Given the description of an element on the screen output the (x, y) to click on. 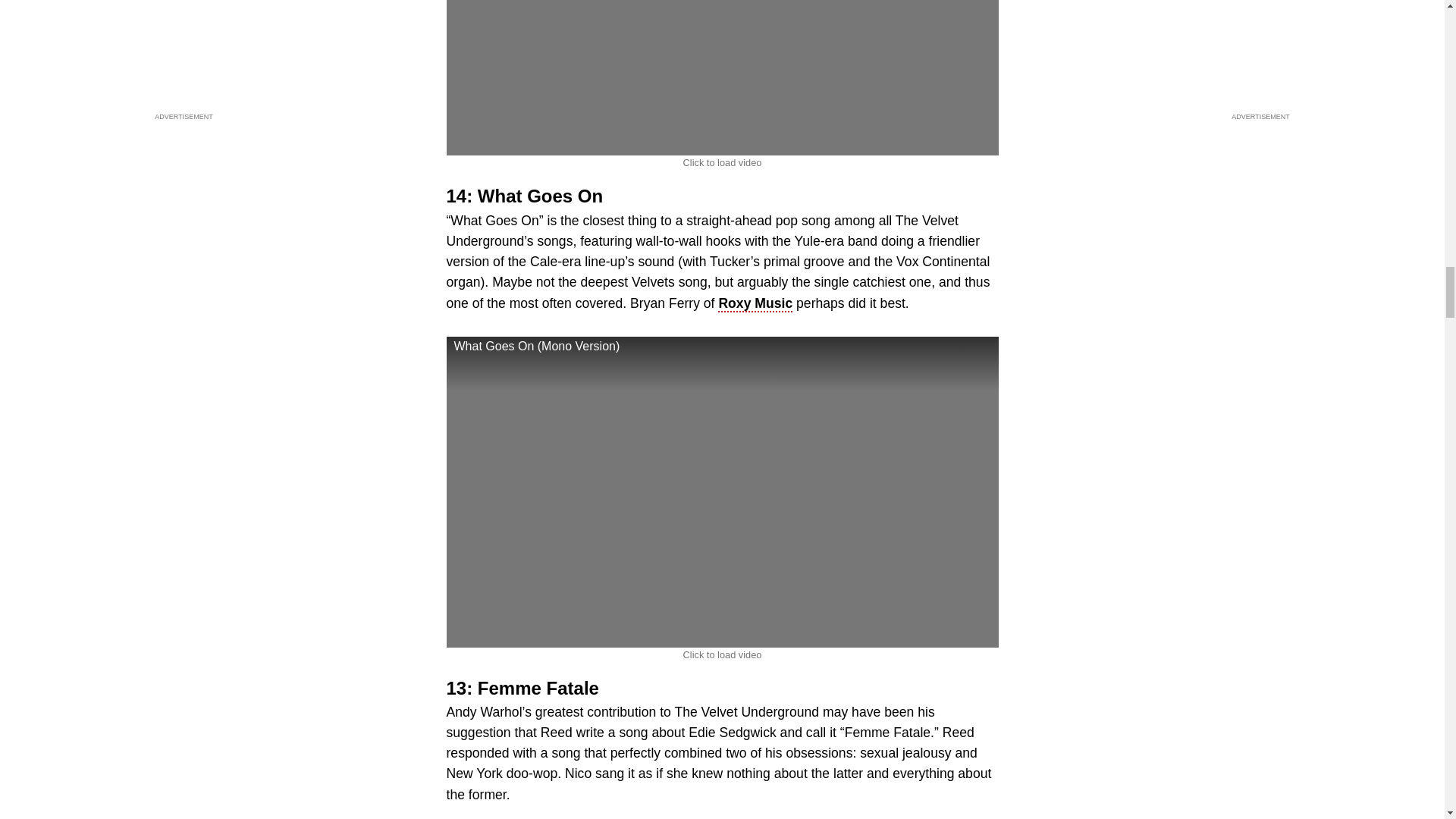
Candy Says (721, 78)
